Given the description of an element on the screen output the (x, y) to click on. 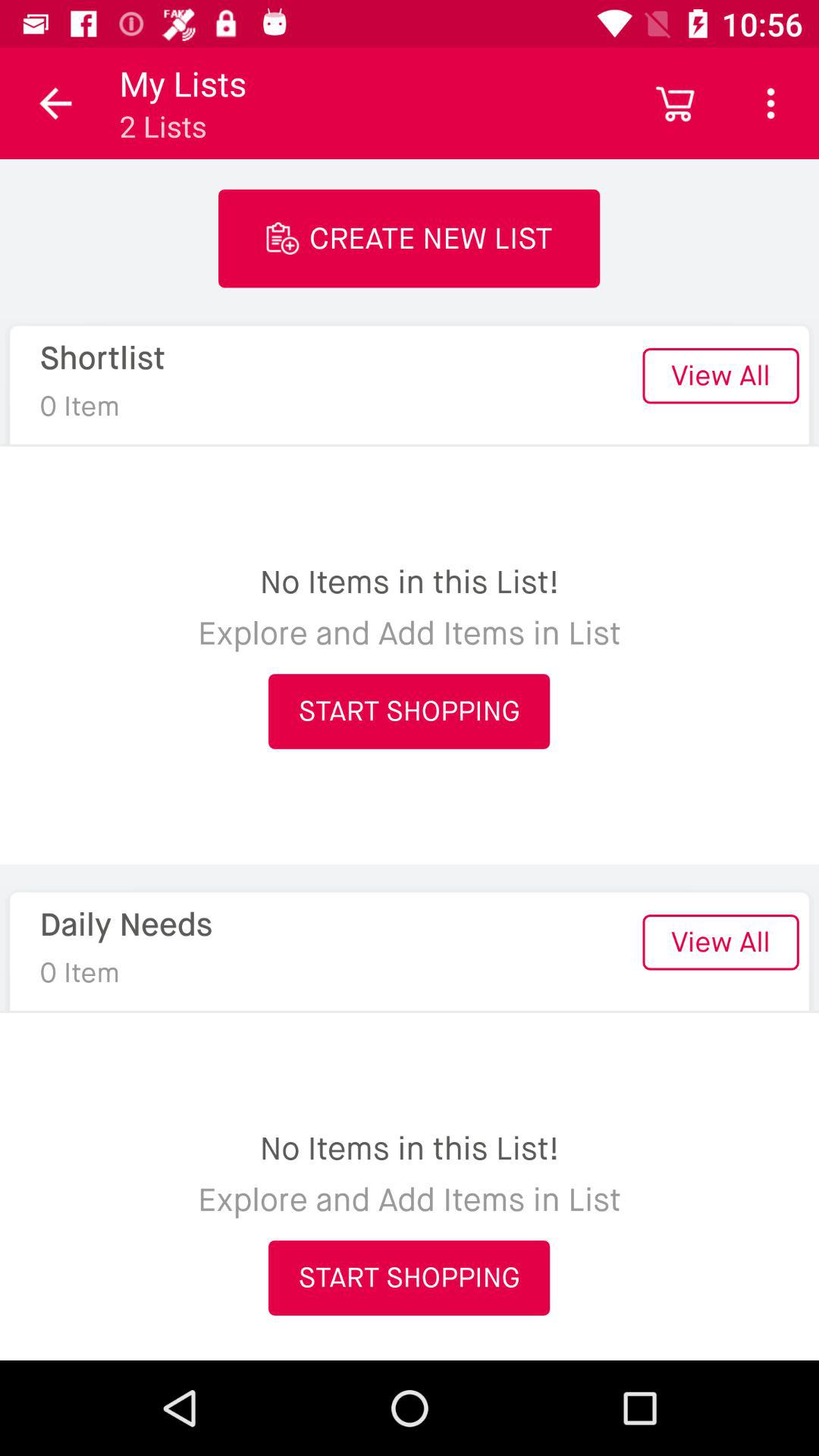
press app to the left of the my lists (55, 103)
